Given the description of an element on the screen output the (x, y) to click on. 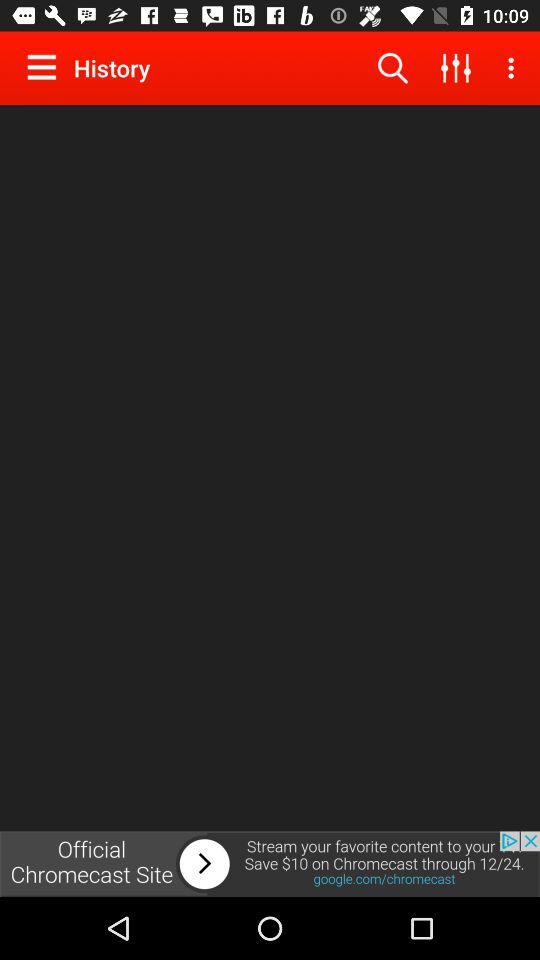
go to next (270, 864)
